Given the description of an element on the screen output the (x, y) to click on. 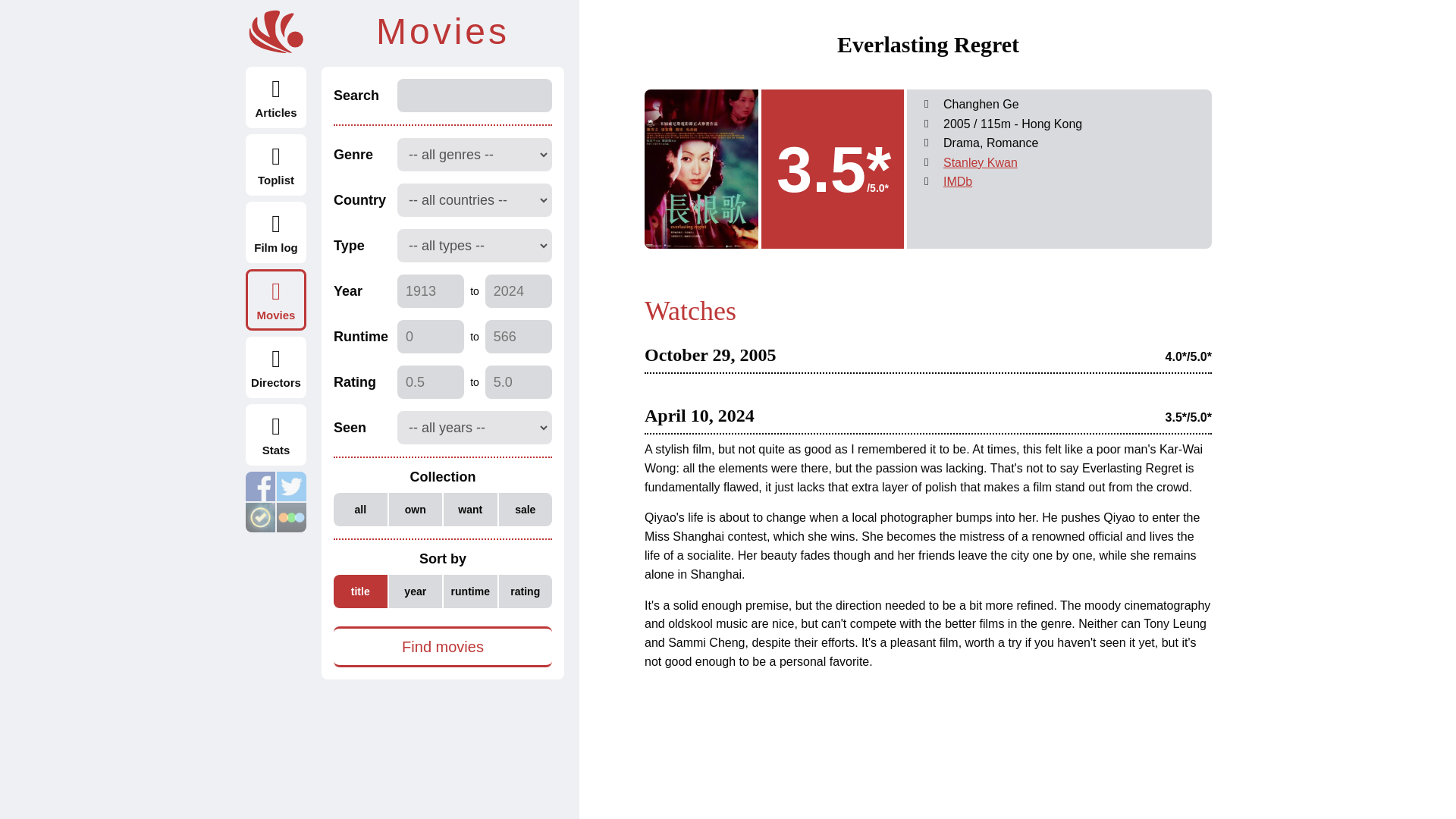
Toplist (275, 164)
Directors (275, 367)
IMDb (957, 181)
Find movies (442, 646)
onderhond.com (275, 31)
Articles (275, 96)
Stanley Kwan (980, 162)
Stats (275, 435)
Film log (275, 231)
Movies (275, 299)
